Given the description of an element on the screen output the (x, y) to click on. 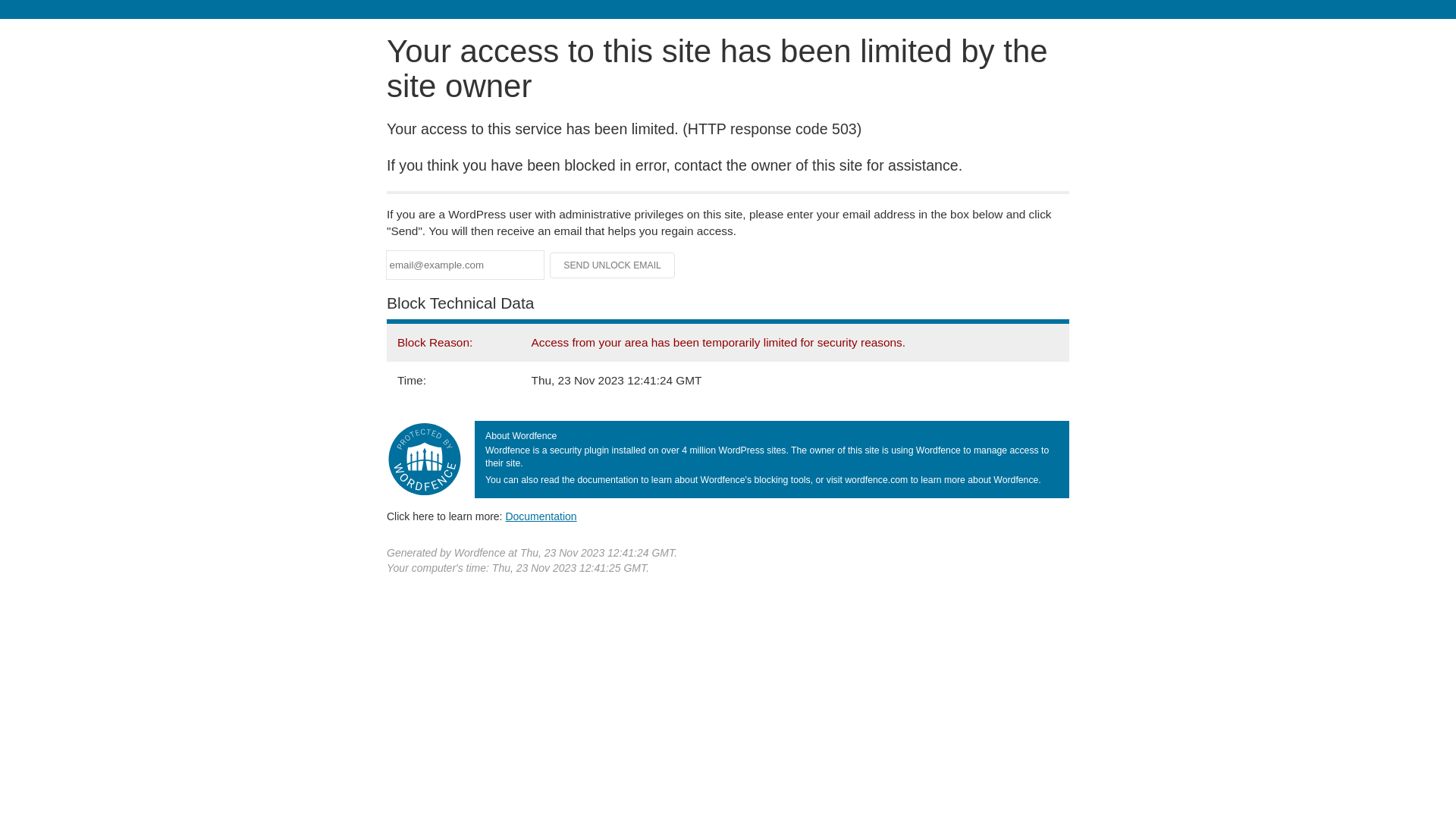
Send Unlock Email Element type: text (612, 265)
Documentation Element type: text (540, 516)
